Given the description of an element on the screen output the (x, y) to click on. 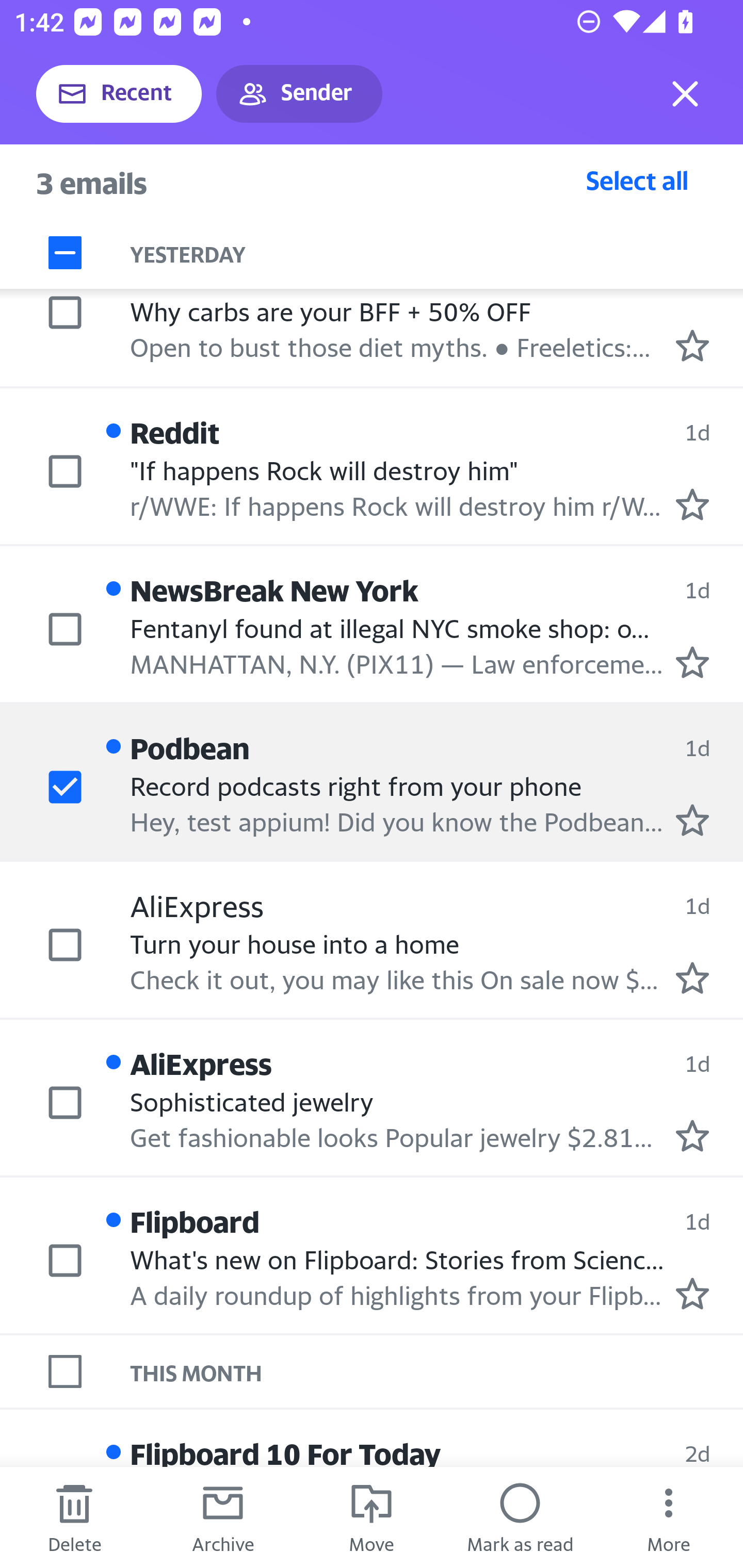
Sender (299, 93)
Exit selection mode (684, 93)
Select all (637, 180)
Mark as starred. (692, 345)
Mark as starred. (692, 504)
Mark as starred. (692, 662)
Mark as starred. (692, 820)
Mark as starred. (692, 977)
Mark as starred. (692, 1135)
Mark as starred. (692, 1293)
THIS MONTH (436, 1370)
Delete (74, 1517)
Archive (222, 1517)
Move (371, 1517)
Mark as read (519, 1517)
More (668, 1517)
